Given the description of an element on the screen output the (x, y) to click on. 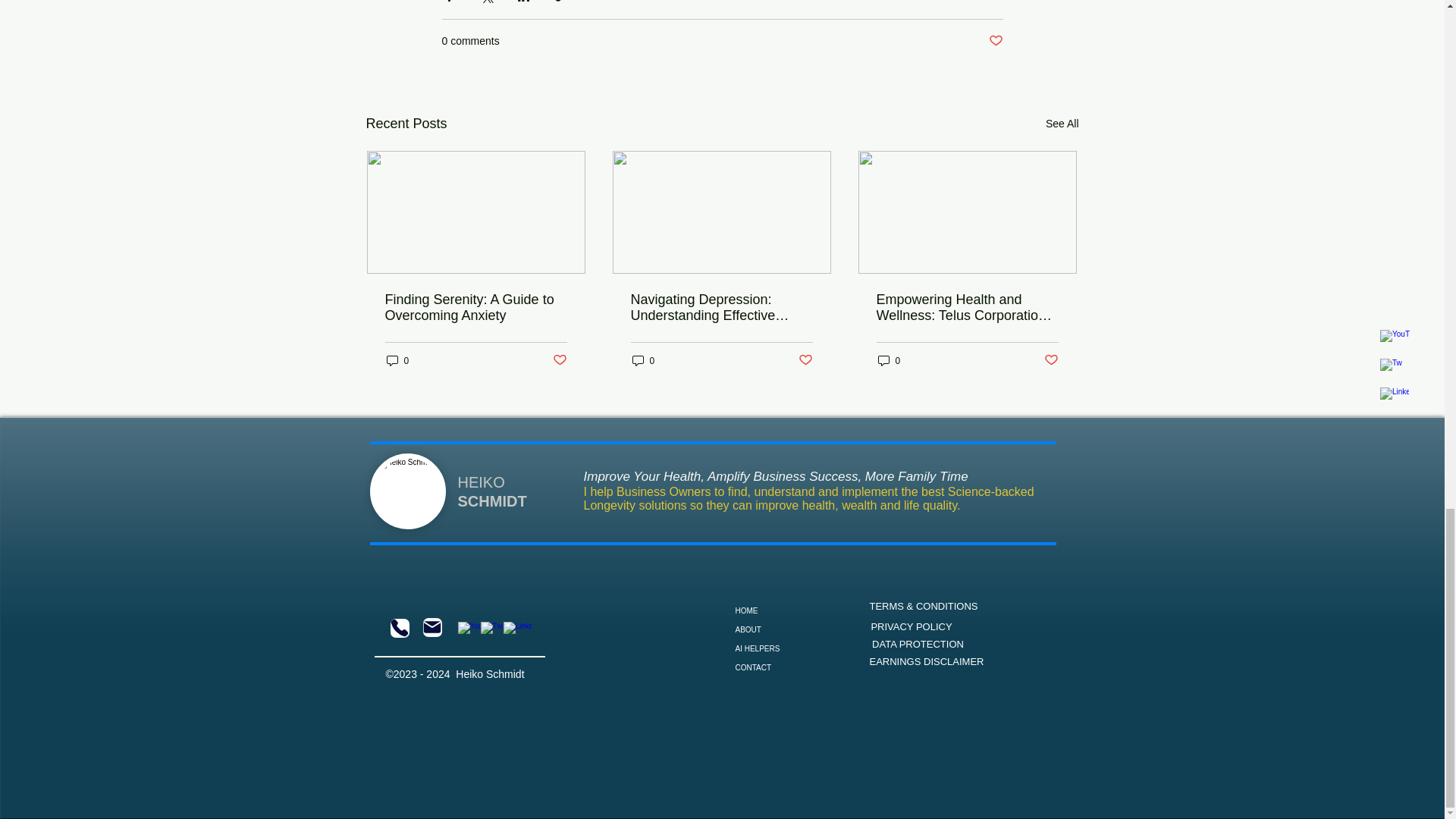
0 (643, 359)
Navigating Depression: Understanding Effective Therapy (721, 307)
Post not marked as liked (1050, 360)
Finding Serenity: A Guide to Overcoming Anxiety (476, 307)
Post not marked as liked (804, 360)
See All (1061, 124)
0 (397, 359)
Post not marked as liked (995, 41)
0 (889, 359)
Post not marked as liked (558, 360)
